Given the description of an element on the screen output the (x, y) to click on. 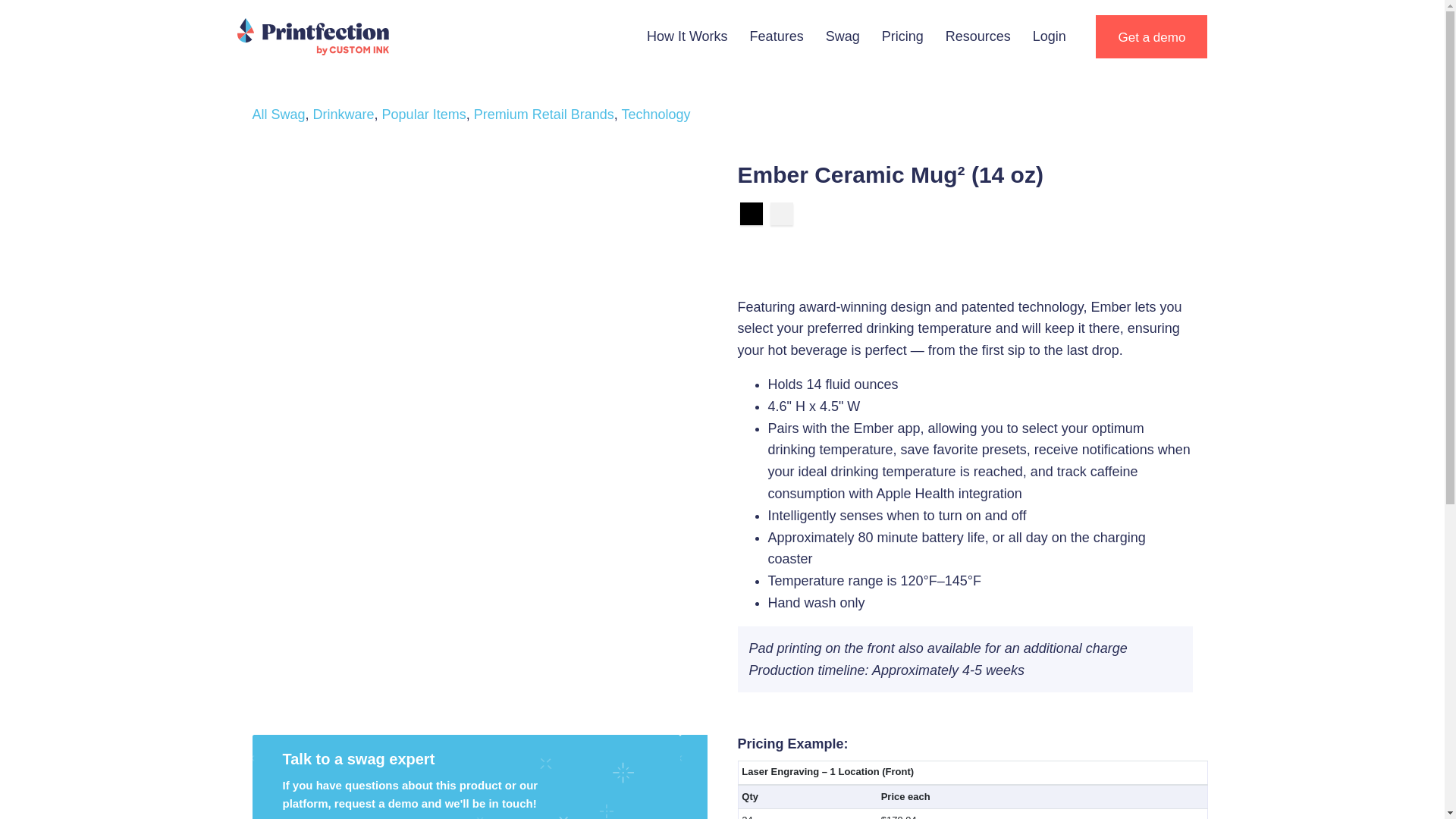
Login (1049, 36)
Pricing (902, 36)
Resources (978, 36)
Get a demo (1151, 36)
How It Works (687, 36)
Features (776, 36)
Swag (842, 36)
